Given the description of an element on the screen output the (x, y) to click on. 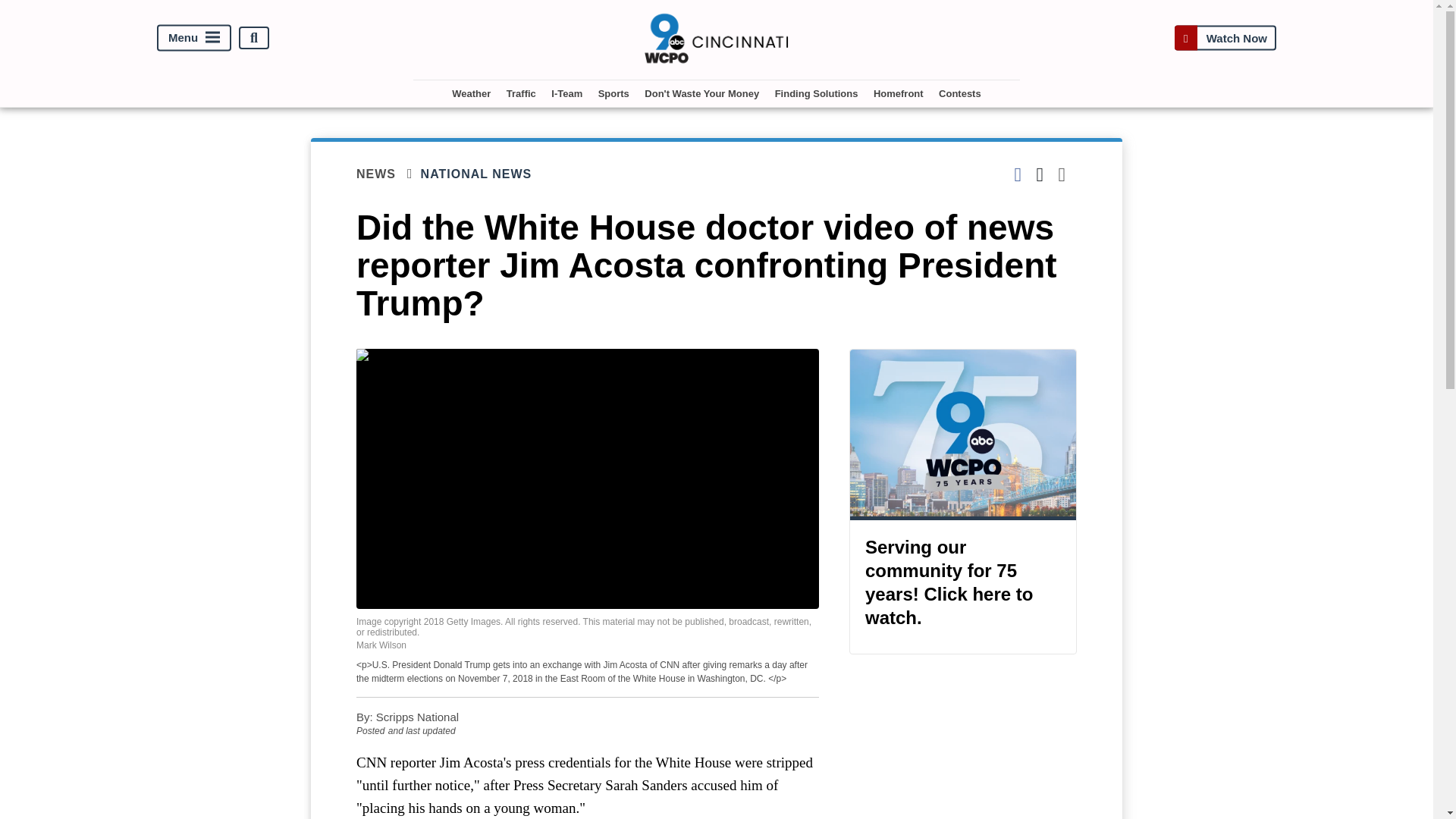
Menu (194, 38)
Watch Now (1224, 38)
